Given the description of an element on the screen output the (x, y) to click on. 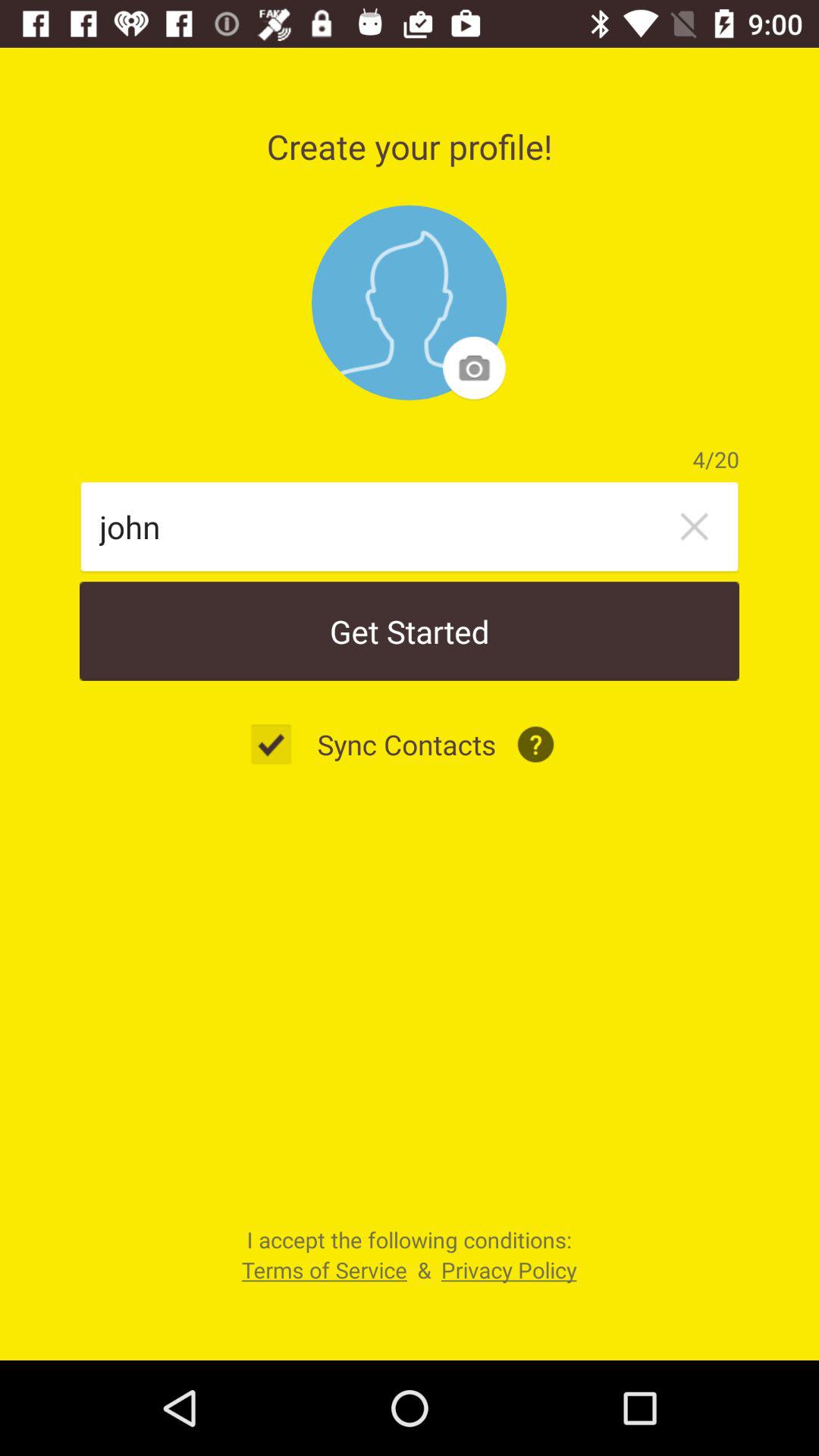
turn on the button above get started button (694, 526)
